Given the description of an element on the screen output the (x, y) to click on. 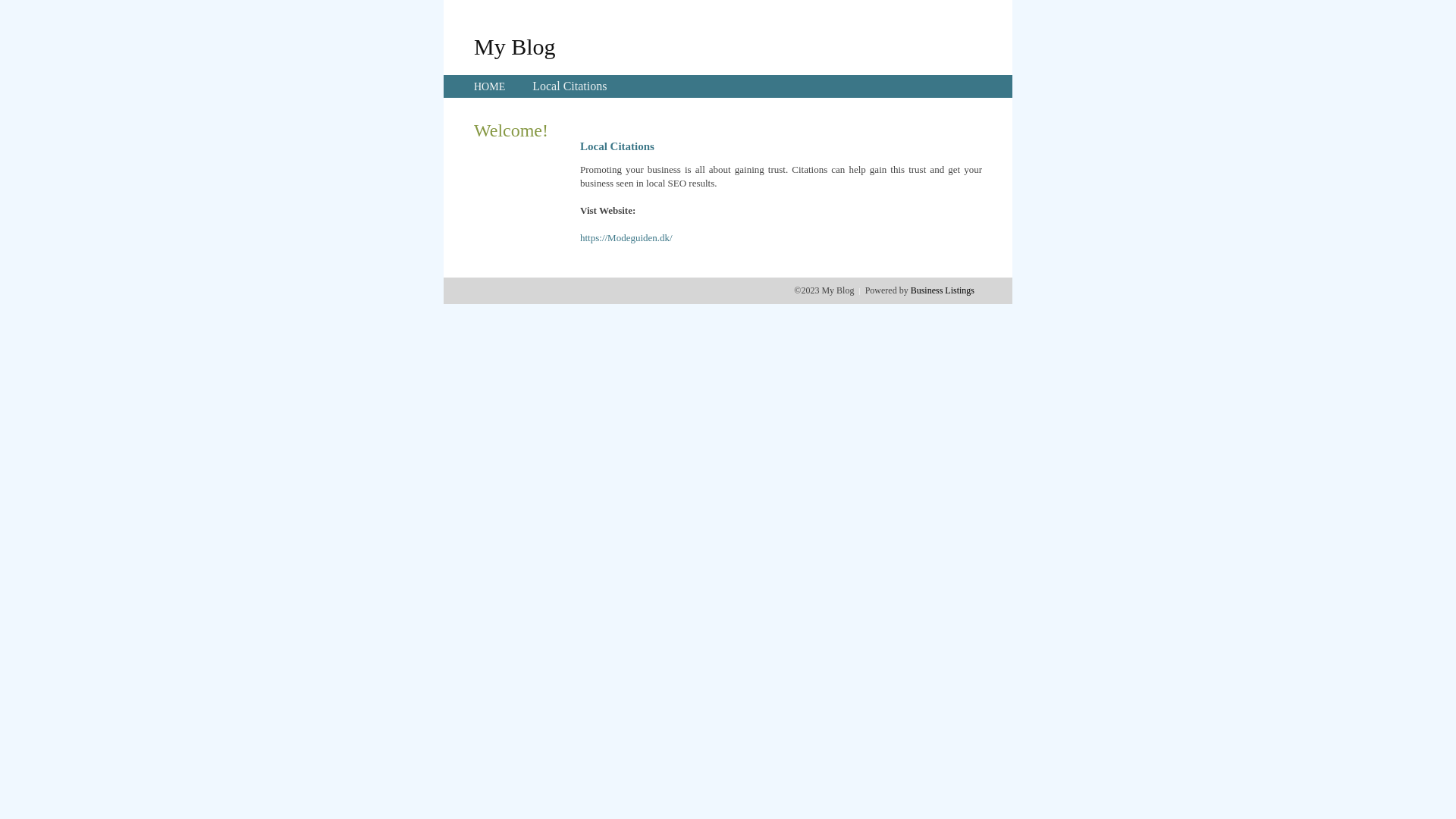
https://Modeguiden.dk/ Element type: text (626, 237)
My Blog Element type: text (514, 46)
Business Listings Element type: text (942, 290)
Local Citations Element type: text (569, 85)
HOME Element type: text (489, 86)
